Given the description of an element on the screen output the (x, y) to click on. 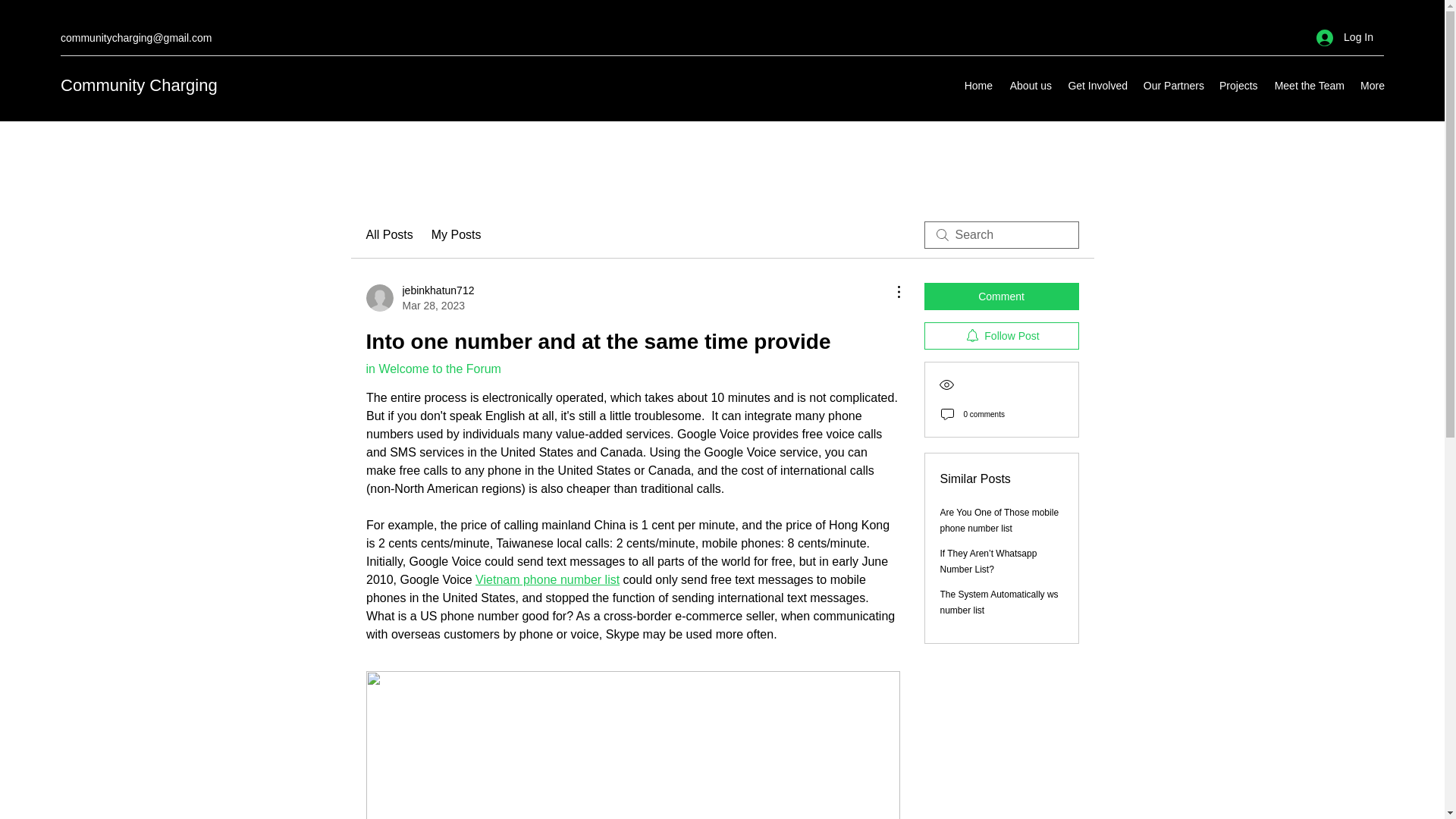
Community Charging (419, 297)
Are You One of Those mobile phone number list (138, 85)
About us (999, 519)
The System Automatically ws number list (1029, 85)
Home (999, 601)
Our Partners (978, 85)
Log In (1173, 85)
in Welcome to the Forum (1345, 37)
Meet the Team (432, 368)
Follow Post (1308, 85)
Vietnam phone number list (1000, 335)
Comment (548, 579)
All Posts (1000, 296)
My Posts (388, 235)
